Given the description of an element on the screen output the (x, y) to click on. 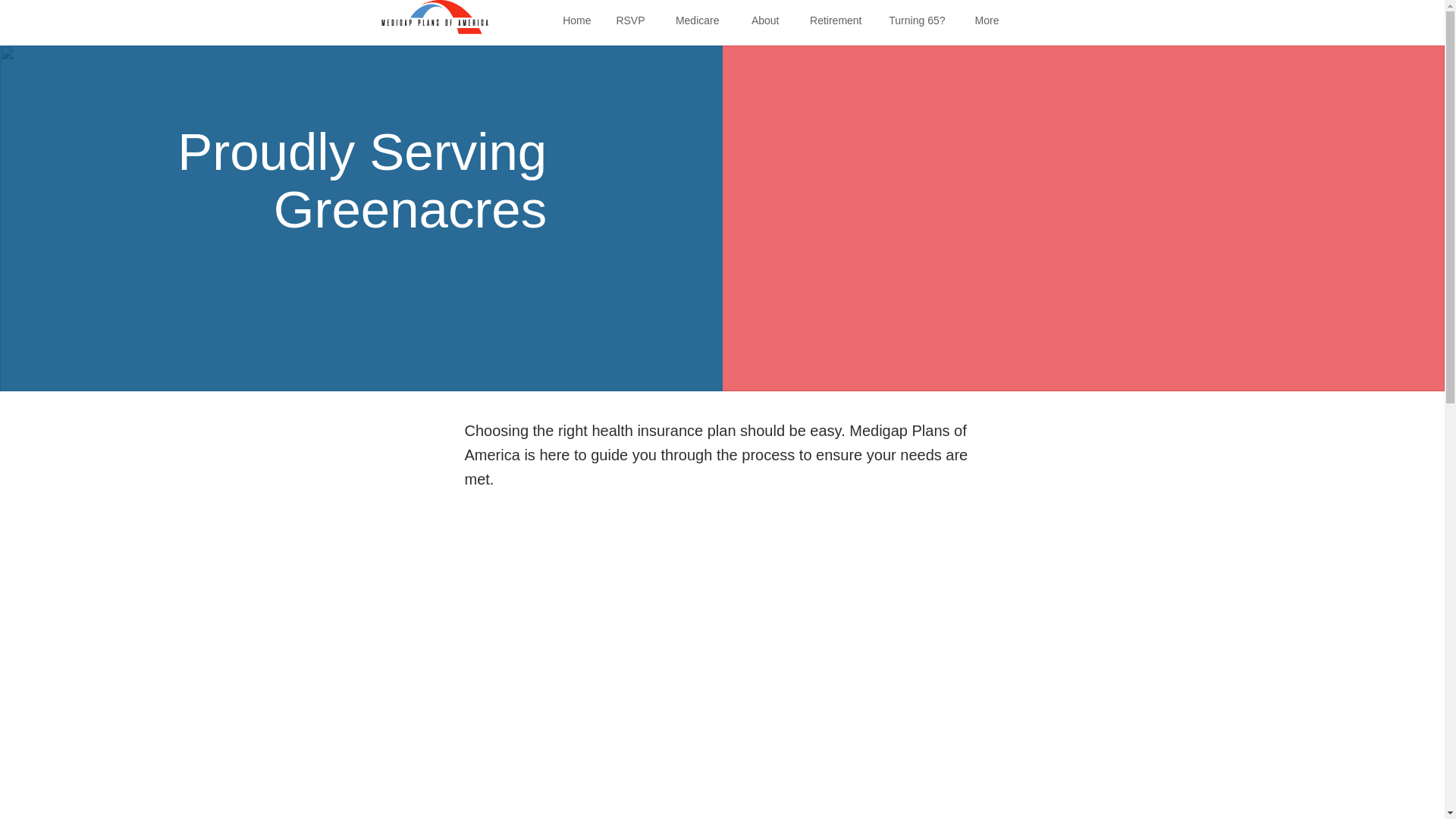
Retirement (831, 20)
Medicare (693, 20)
About (760, 20)
Home (573, 20)
RSVP (629, 20)
Turning 65? (914, 20)
